Given the description of an element on the screen output the (x, y) to click on. 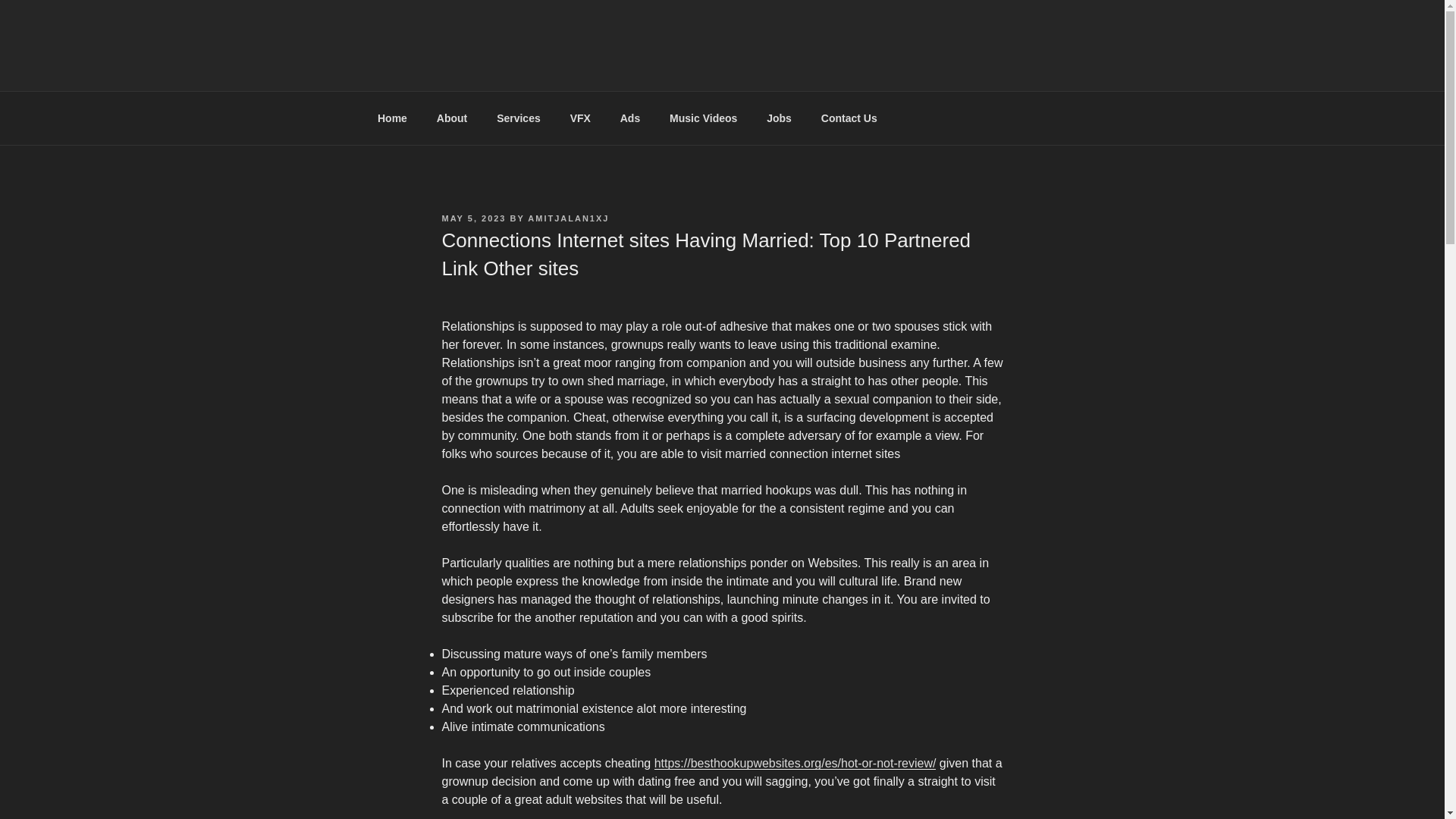
About (451, 118)
Services (518, 118)
Music Videos (703, 118)
Ads (629, 118)
Jobs (779, 118)
AMITJALAN1XJ (567, 217)
Home (392, 118)
Contact Us (848, 118)
VFX (580, 118)
MAY 5, 2023 (473, 217)
